Given the description of an element on the screen output the (x, y) to click on. 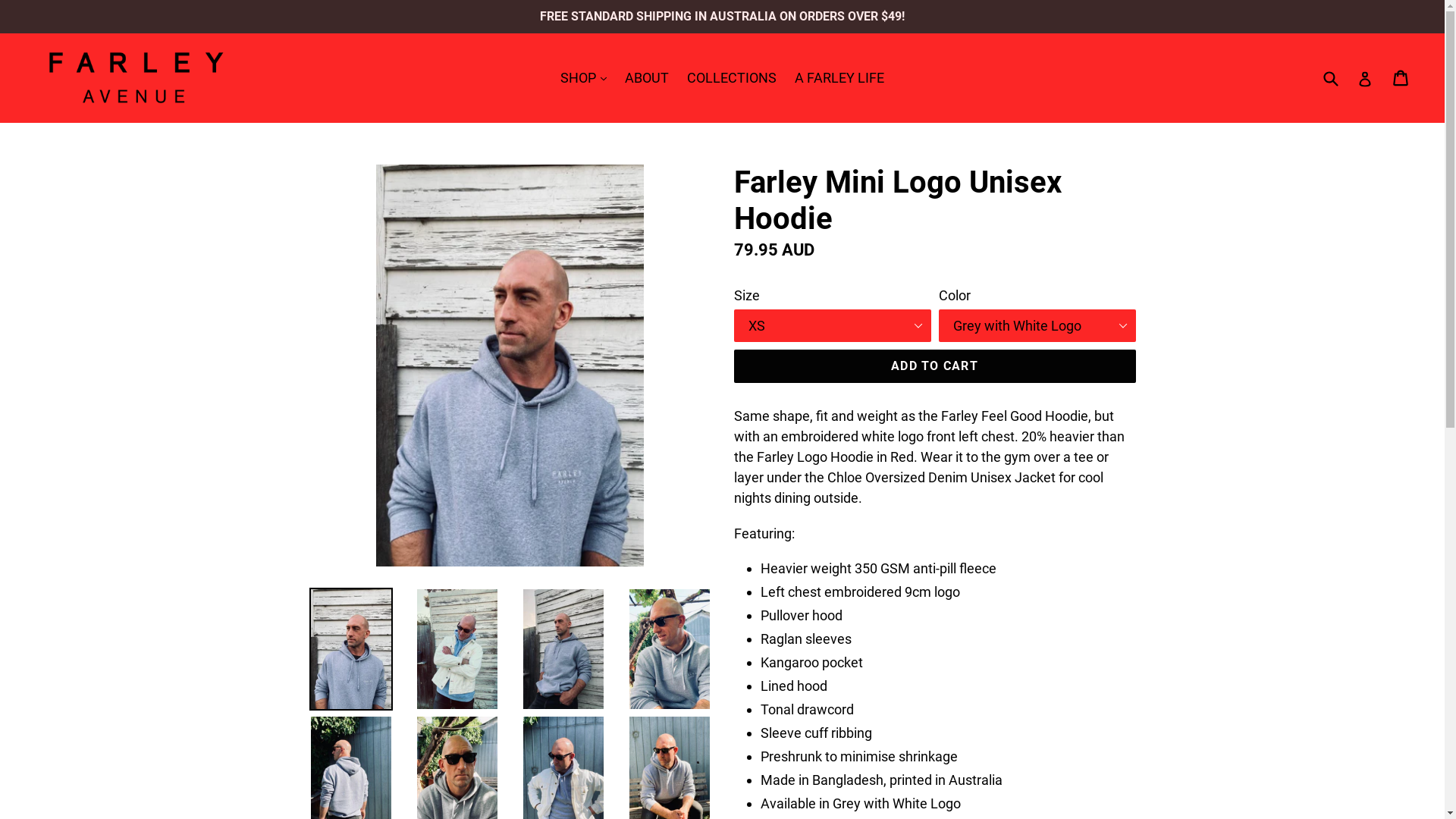
Cart
Cart Element type: text (1401, 76)
ABOUT Element type: text (646, 77)
ADD TO CART Element type: text (934, 365)
Submit Element type: text (1329, 77)
COLLECTIONS Element type: text (731, 77)
A FARLEY LIFE Element type: text (839, 77)
Log in Element type: text (1364, 77)
FREE STANDARD SHIPPING IN AUSTRALIA ON ORDERS OVER $49! Element type: text (722, 16)
